Given the description of an element on the screen output the (x, y) to click on. 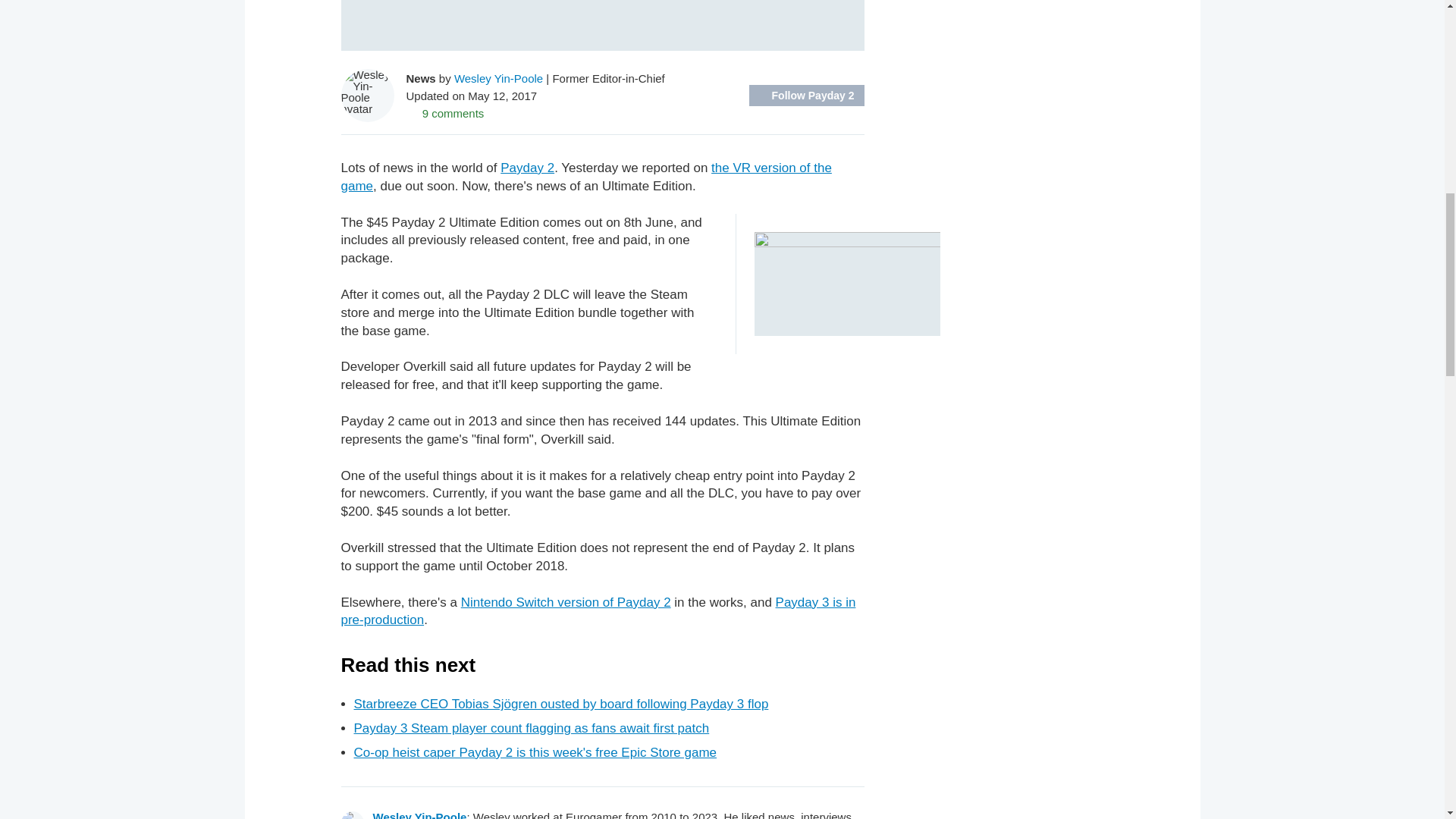
Wesley Yin-Poole (419, 814)
Payday 3 is in pre-production (598, 611)
the VR version of the game (585, 176)
9 comments (445, 112)
Nintendo Switch version of Payday 2 (566, 602)
Follow Payday 2 (806, 95)
Payday 2 (527, 167)
Wesley Yin-Poole (498, 77)
